Given the description of an element on the screen output the (x, y) to click on. 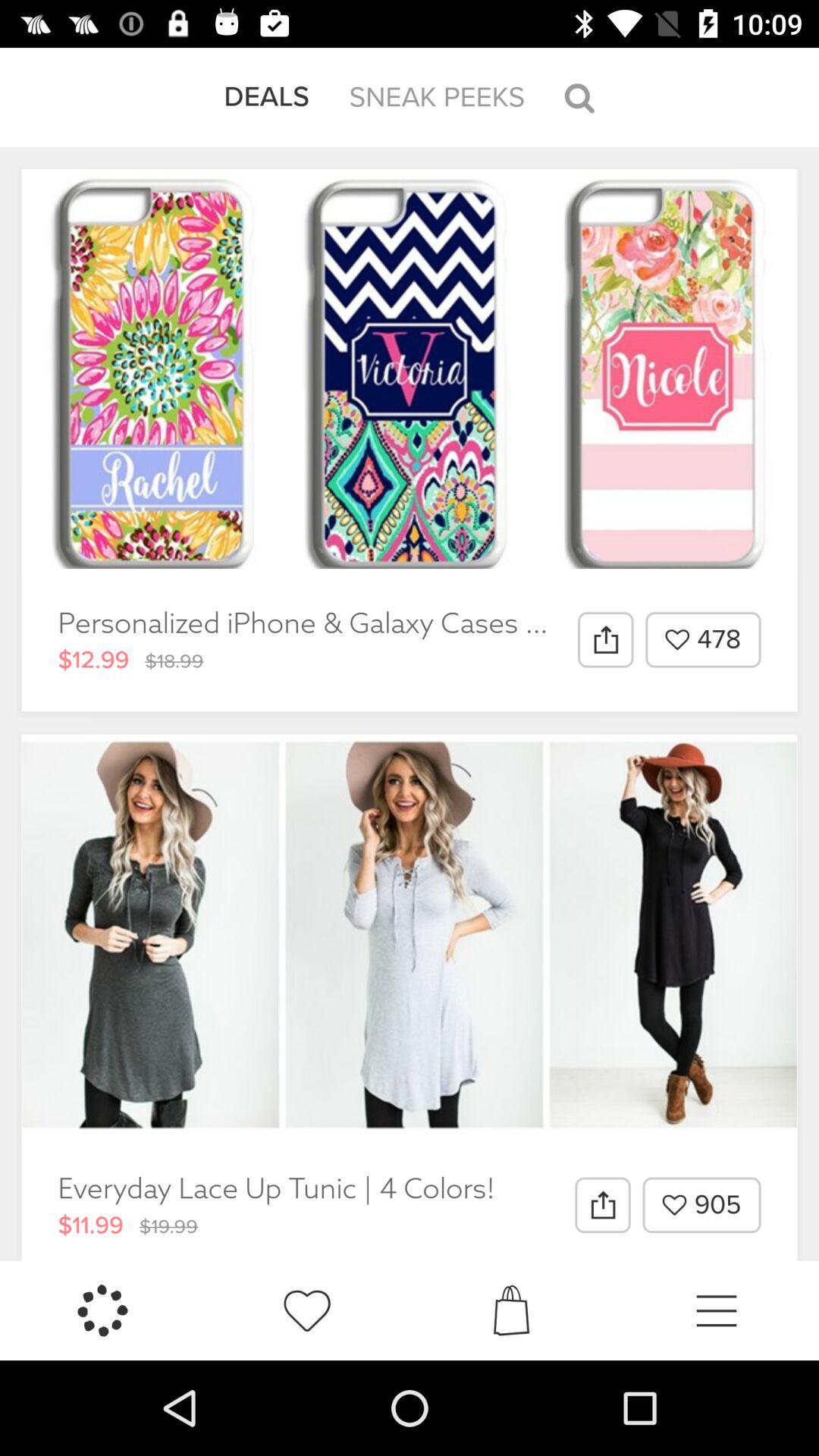
turn on the icon to the right of the sneak peeks item (579, 97)
